Given the description of an element on the screen output the (x, y) to click on. 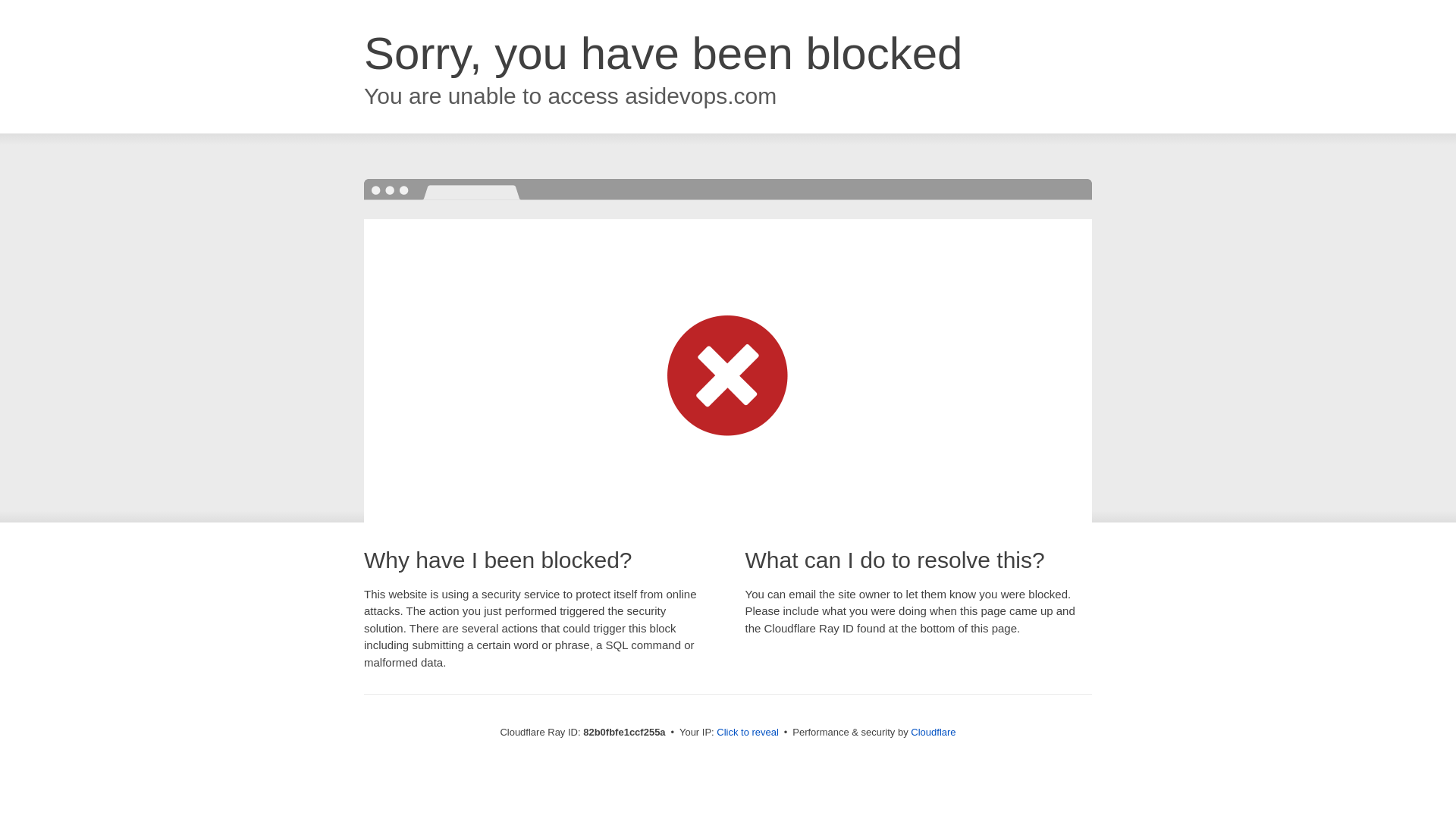
Cloudflare Element type: text (932, 731)
Click to reveal Element type: text (747, 732)
